Given the description of an element on the screen output the (x, y) to click on. 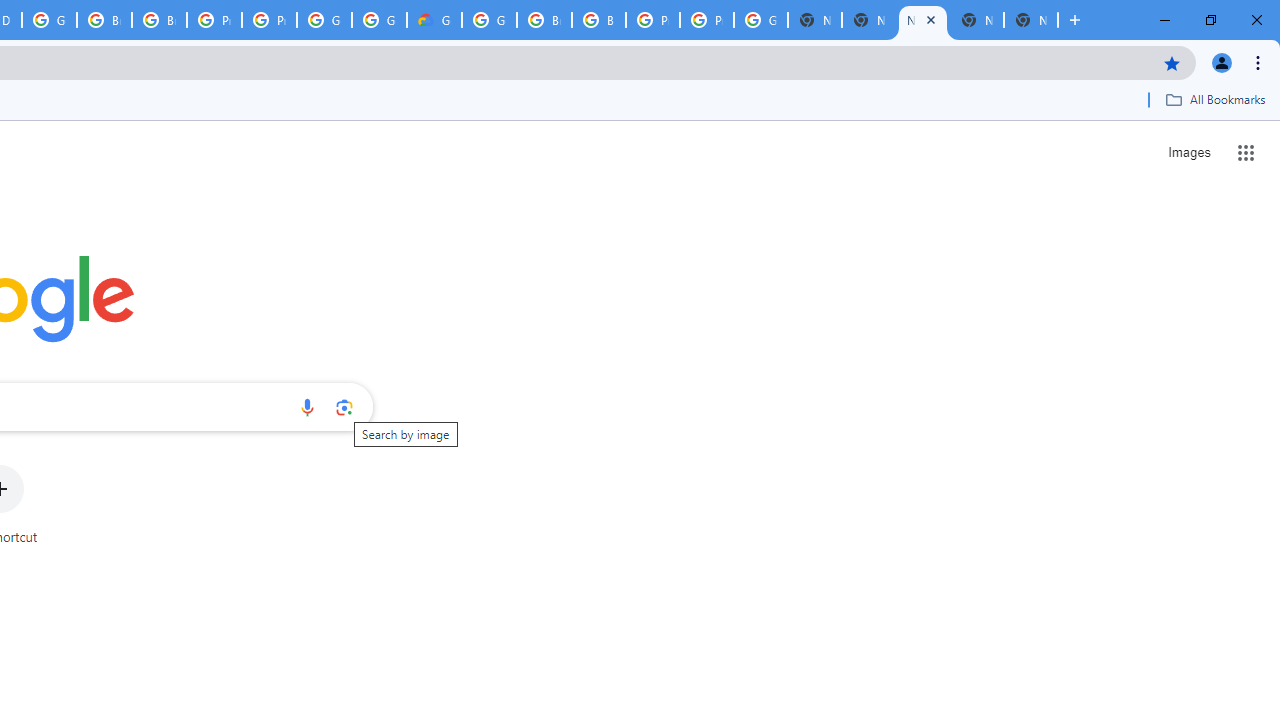
Google Cloud Platform (48, 20)
New Tab (868, 20)
Browse Chrome as a guest - Computer - Google Chrome Help (544, 20)
New Tab (922, 20)
New Tab (1030, 20)
Google Cloud Estimate Summary (434, 20)
